Given the description of an element on the screen output the (x, y) to click on. 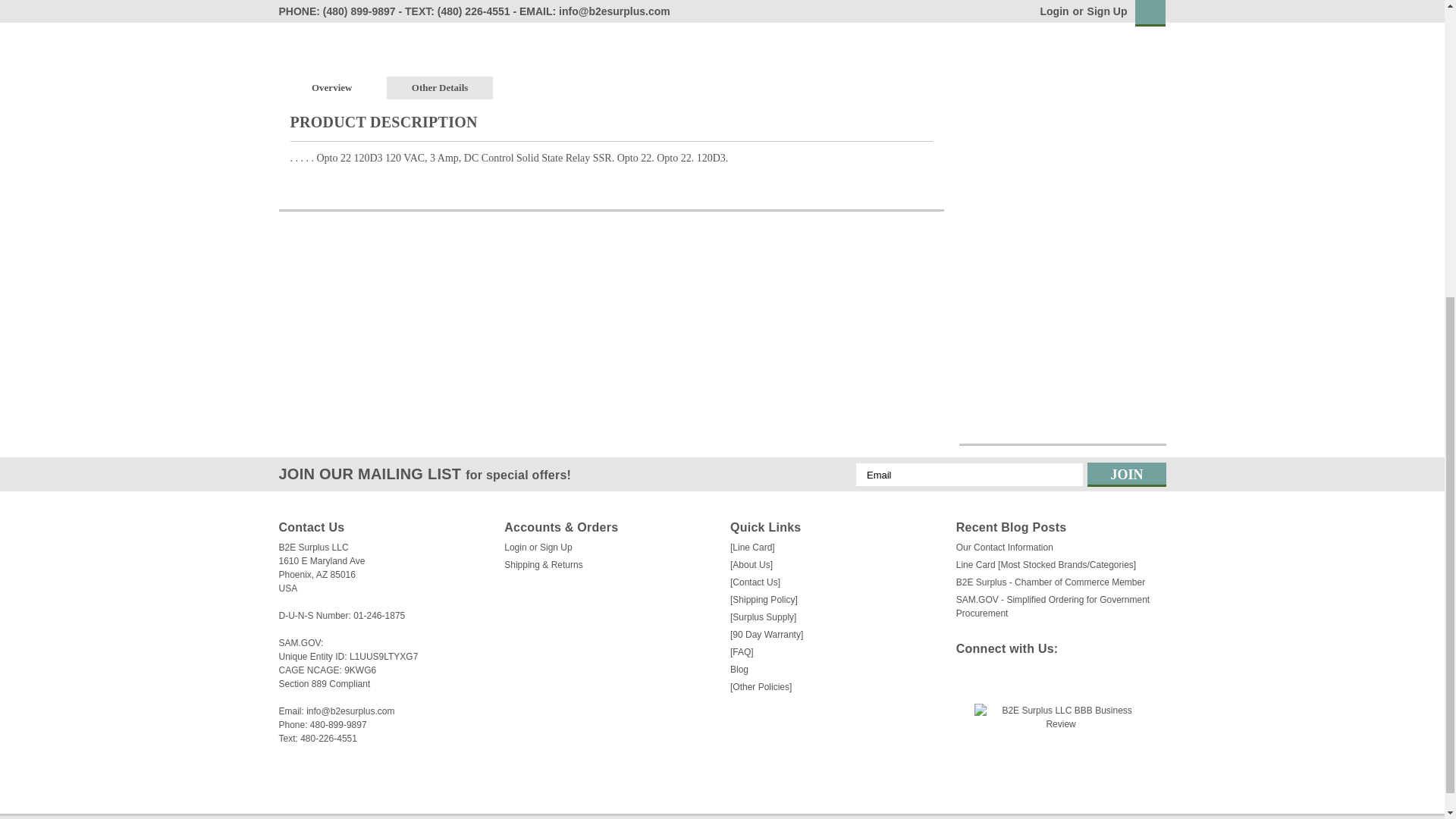
Join (1126, 474)
